Given the description of an element on the screen output the (x, y) to click on. 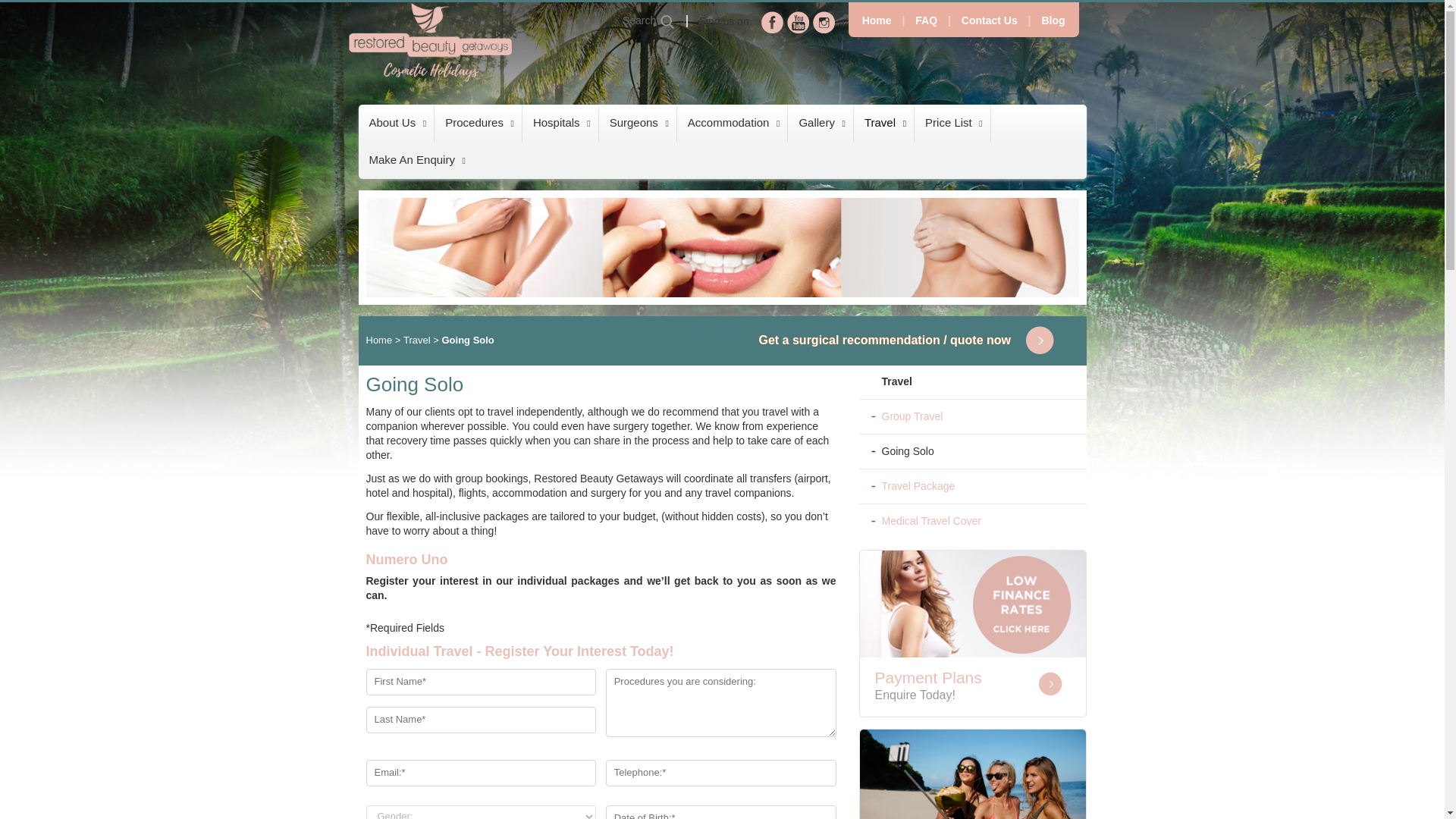
Instagram (823, 22)
YouTube (798, 22)
Restored Beauty Getaways (429, 42)
Facebook (772, 22)
Blog (1052, 20)
About Us (395, 122)
FAQ (925, 20)
Contact Us (989, 20)
Home (877, 20)
Procedures (477, 122)
Instagram (823, 22)
Facebook (772, 22)
YouTube (798, 22)
